Given the description of an element on the screen output the (x, y) to click on. 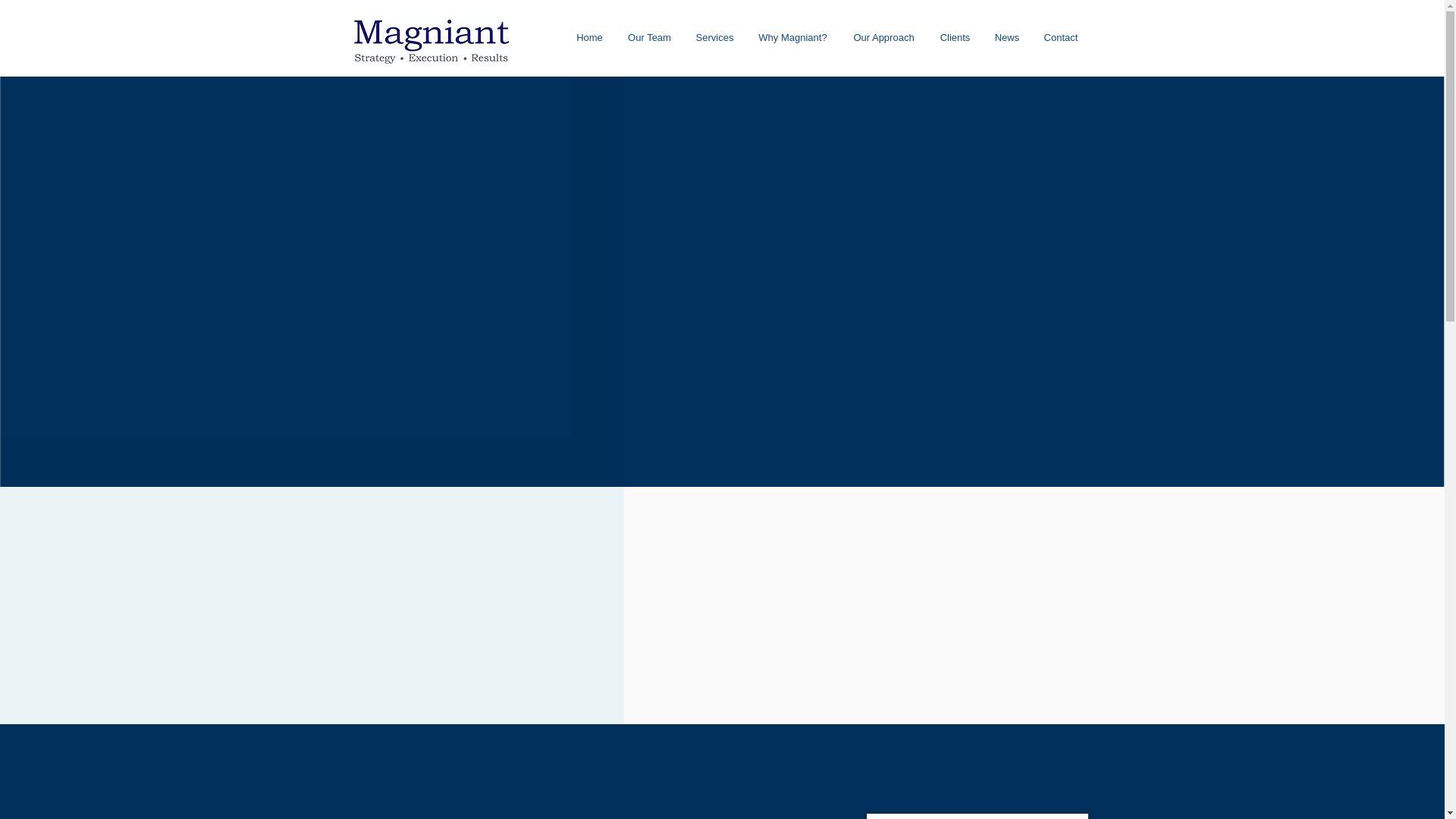
Clients (955, 37)
Our Team (649, 37)
Home (589, 37)
Contact (1059, 37)
Our Approach (884, 37)
Why Magniant? (792, 37)
News (1007, 37)
Services (714, 37)
